Given the description of an element on the screen output the (x, y) to click on. 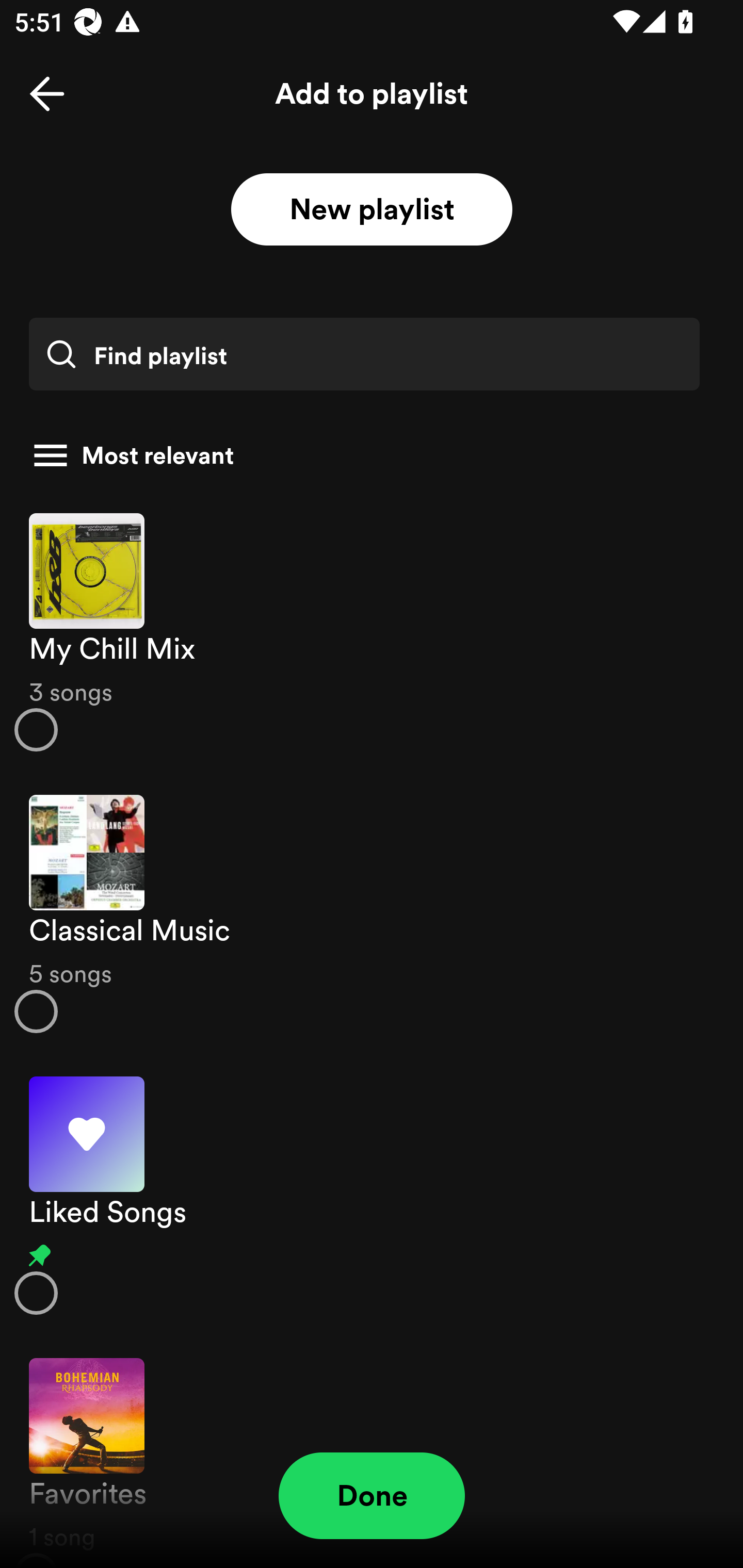
Back (46, 93)
New playlist (371, 210)
Find playlist (363, 354)
Most relevant (363, 455)
My Chill Mix 3 songs (371, 631)
Classical Music 5 songs (371, 914)
Liked Songs Pinned (371, 1195)
Favorites 1 song (371, 1451)
Done (371, 1495)
